Given the description of an element on the screen output the (x, y) to click on. 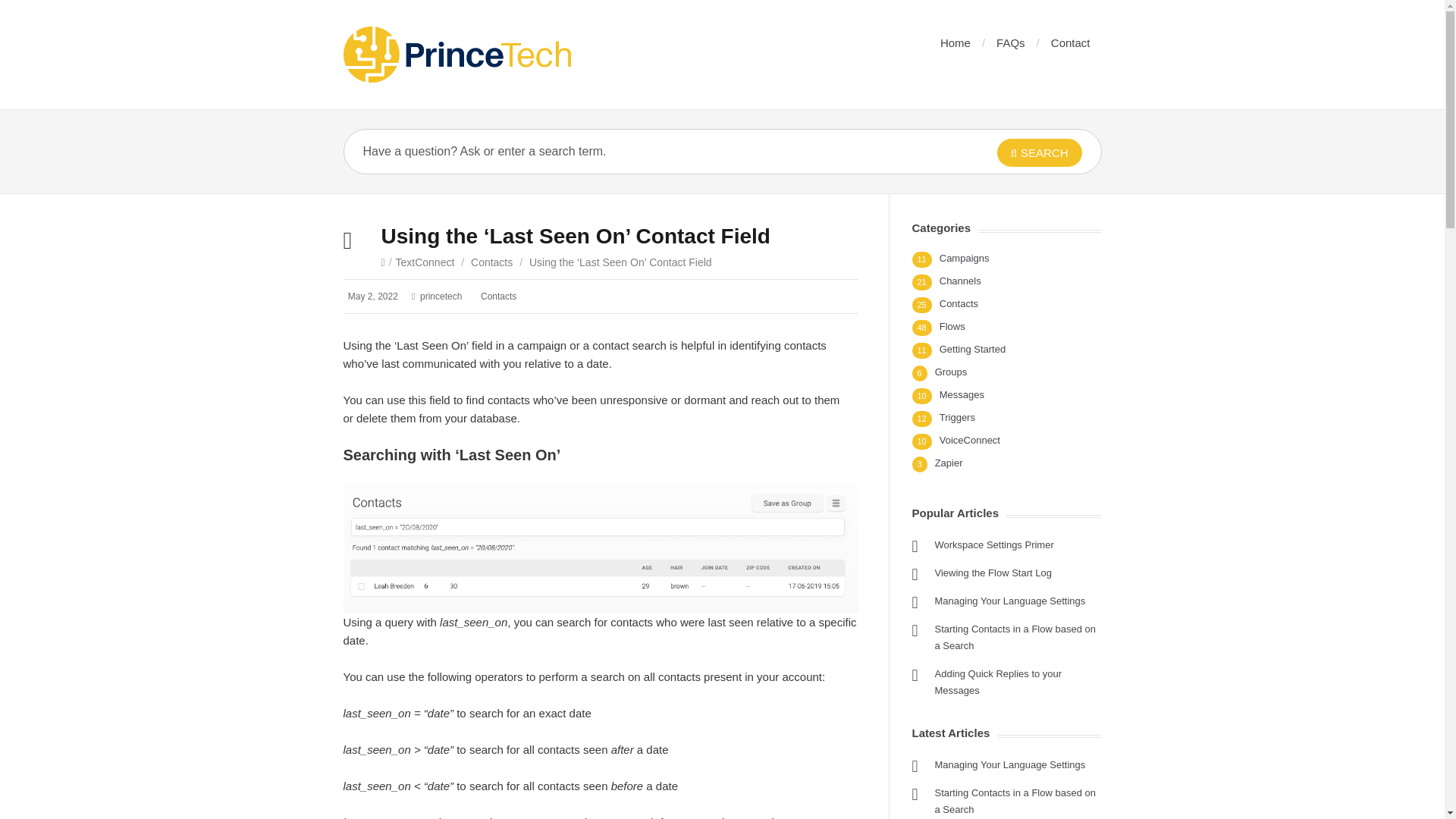
Channels (960, 280)
Managing Your Language Settings (1009, 764)
Workspace Settings Primer (993, 544)
Contact (1070, 42)
Home (955, 42)
Have a question? Ask or enter a search term. (646, 151)
Starting Contacts in a Flow based on a Search (1014, 637)
Resources by PrinceTech (456, 54)
Zapier (948, 462)
Flows (952, 326)
Managing Your Language Settings (1009, 600)
Contacts (491, 262)
TextConnect (425, 262)
Triggers (957, 417)
Contacts (958, 303)
